Given the description of an element on the screen output the (x, y) to click on. 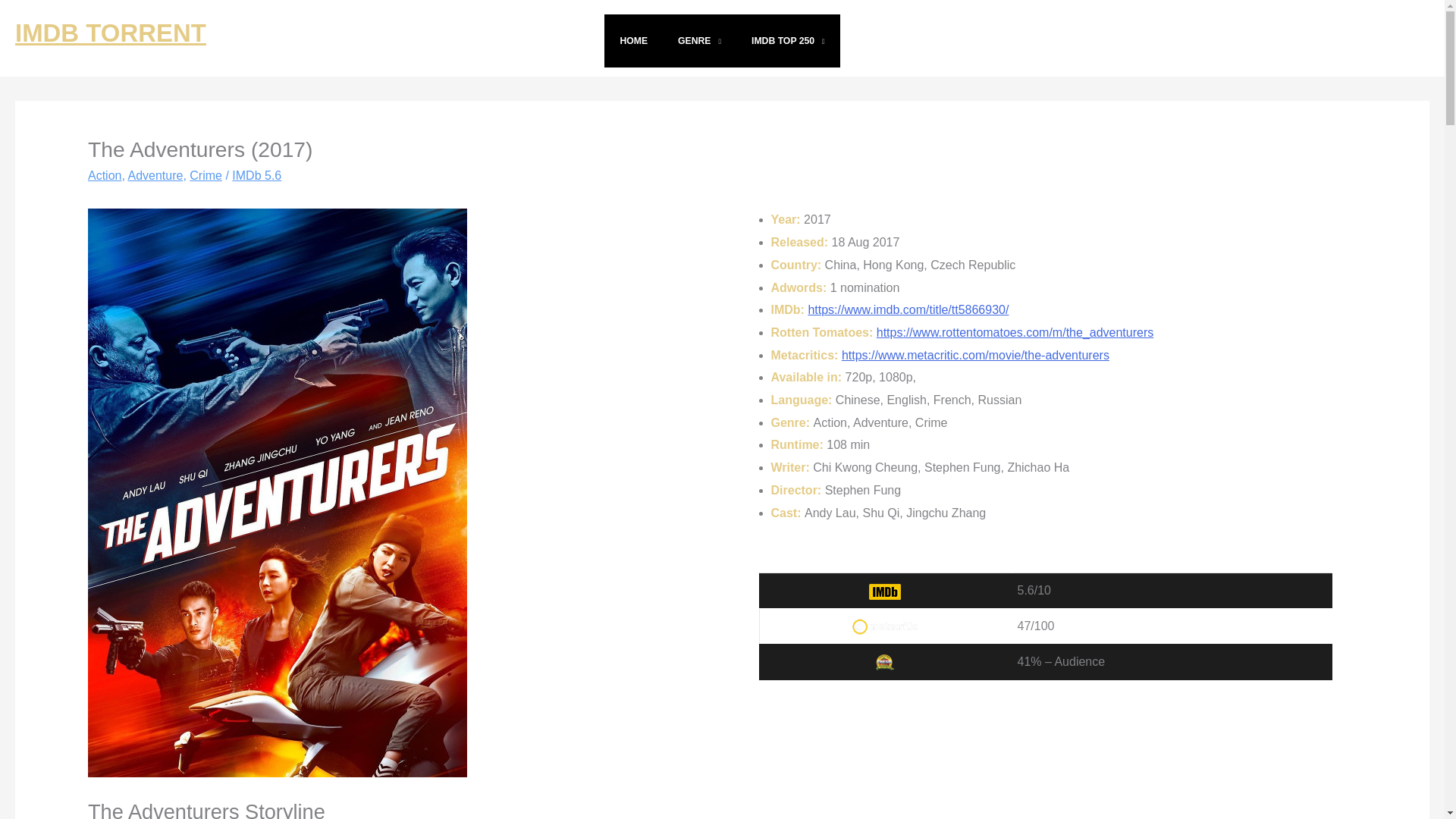
IMDB TOP 250 (788, 40)
GENRE (699, 40)
HOME (633, 40)
IMDB TORRENT (110, 32)
